Given the description of an element on the screen output the (x, y) to click on. 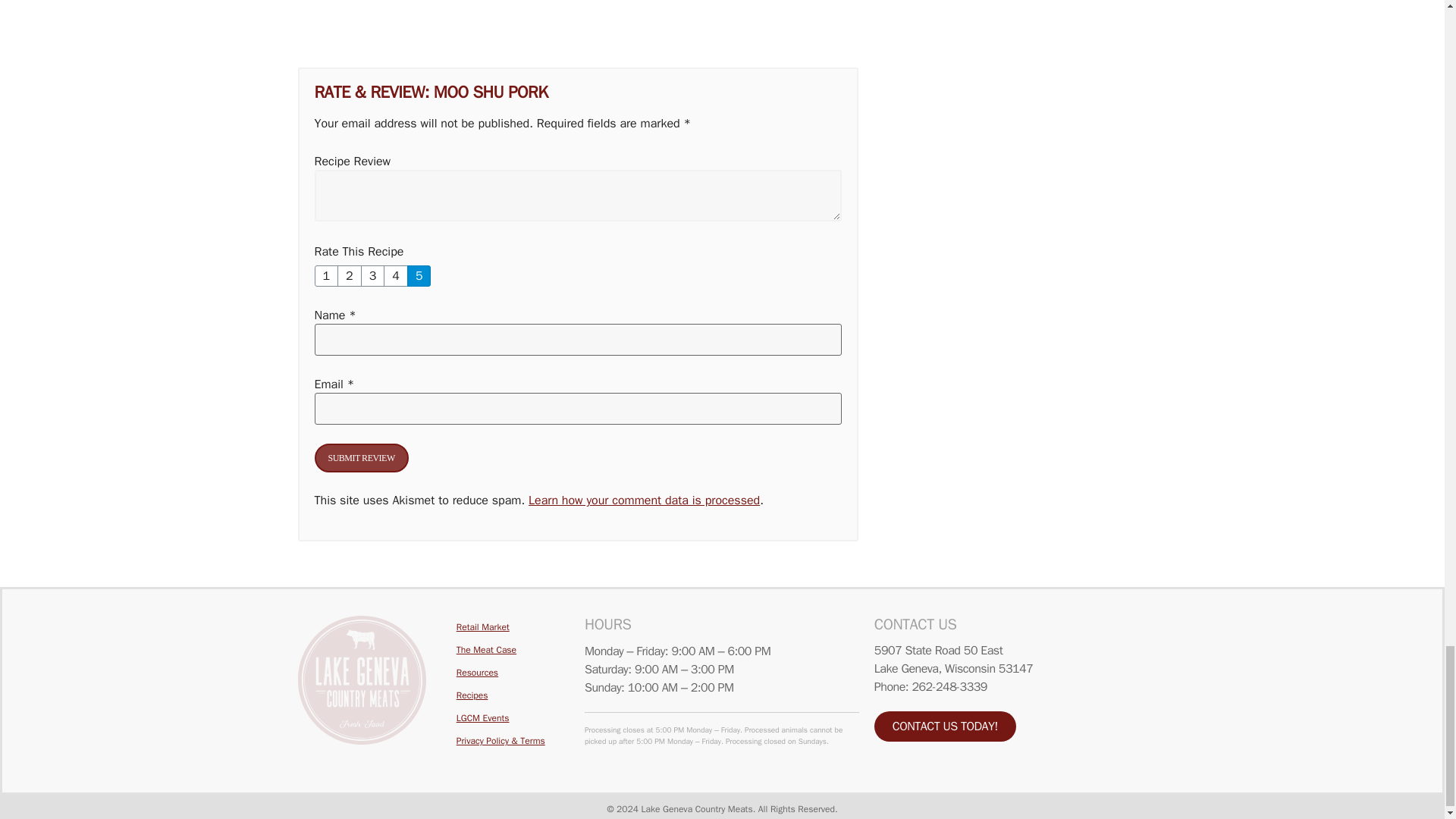
Submit Review (360, 457)
